Given the description of an element on the screen output the (x, y) to click on. 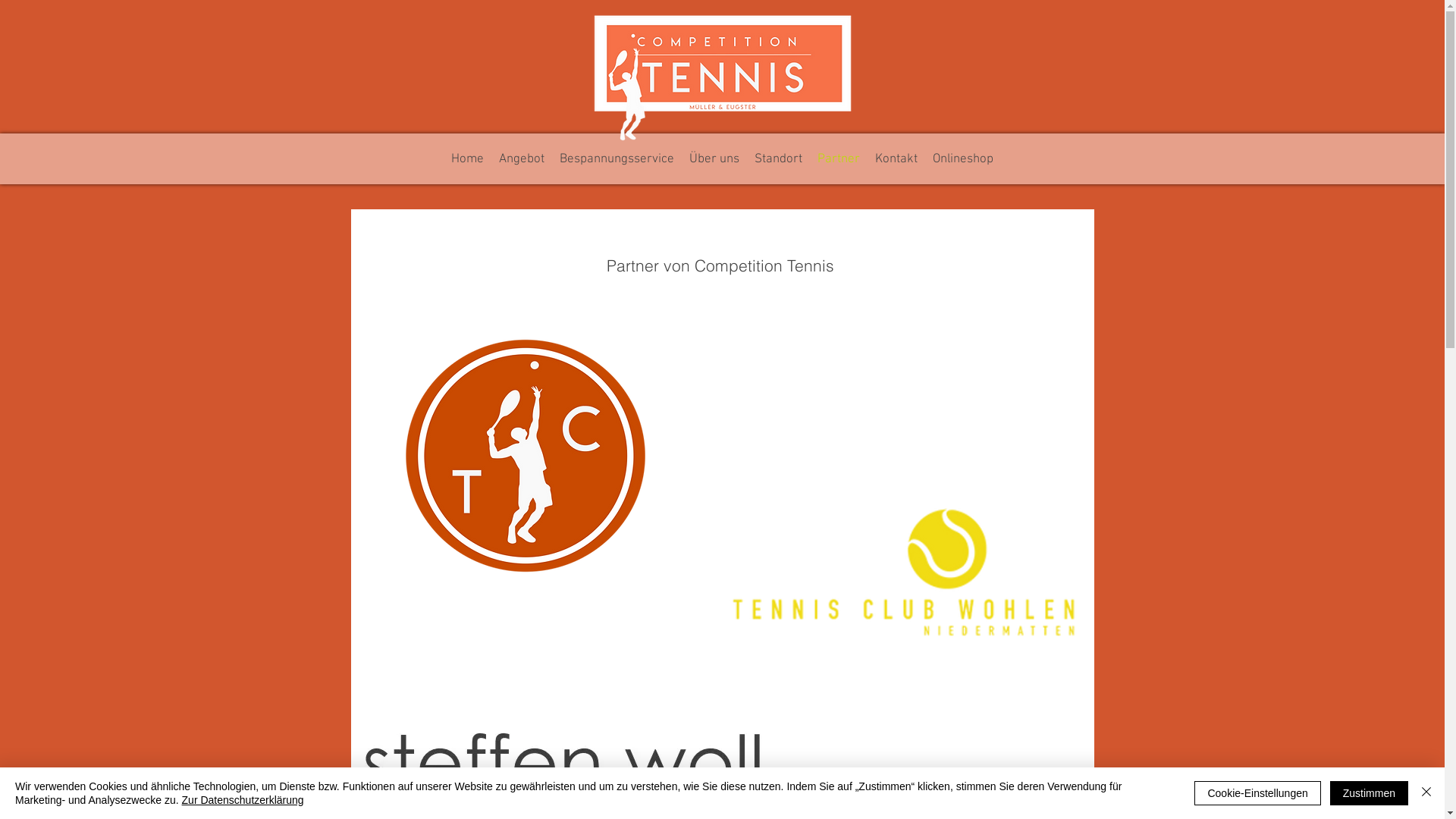
Zustimmen Element type: text (1369, 793)
Onlineshop Element type: text (963, 158)
Bespannungsservice Element type: text (616, 158)
Standort Element type: text (777, 158)
Home Element type: text (466, 158)
Kontakt Element type: text (896, 158)
Angebot Element type: text (521, 158)
Cookie-Einstellungen Element type: text (1257, 793)
Partner Element type: text (838, 158)
